Given the description of an element on the screen output the (x, y) to click on. 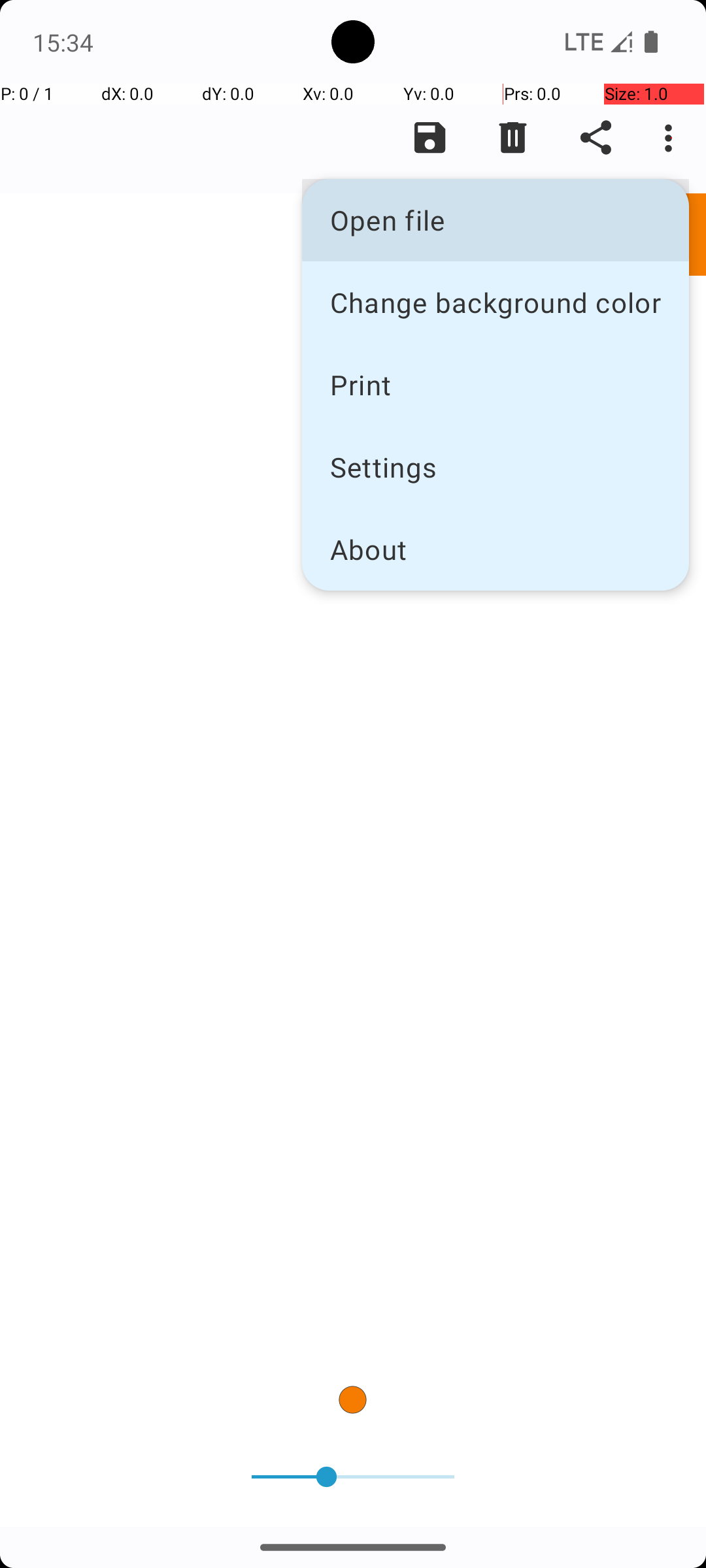
Open file Element type: android.widget.TextView (495, 219)
Change background color Element type: android.widget.TextView (495, 301)
Print Element type: android.widget.TextView (495, 384)
